Given the description of an element on the screen output the (x, y) to click on. 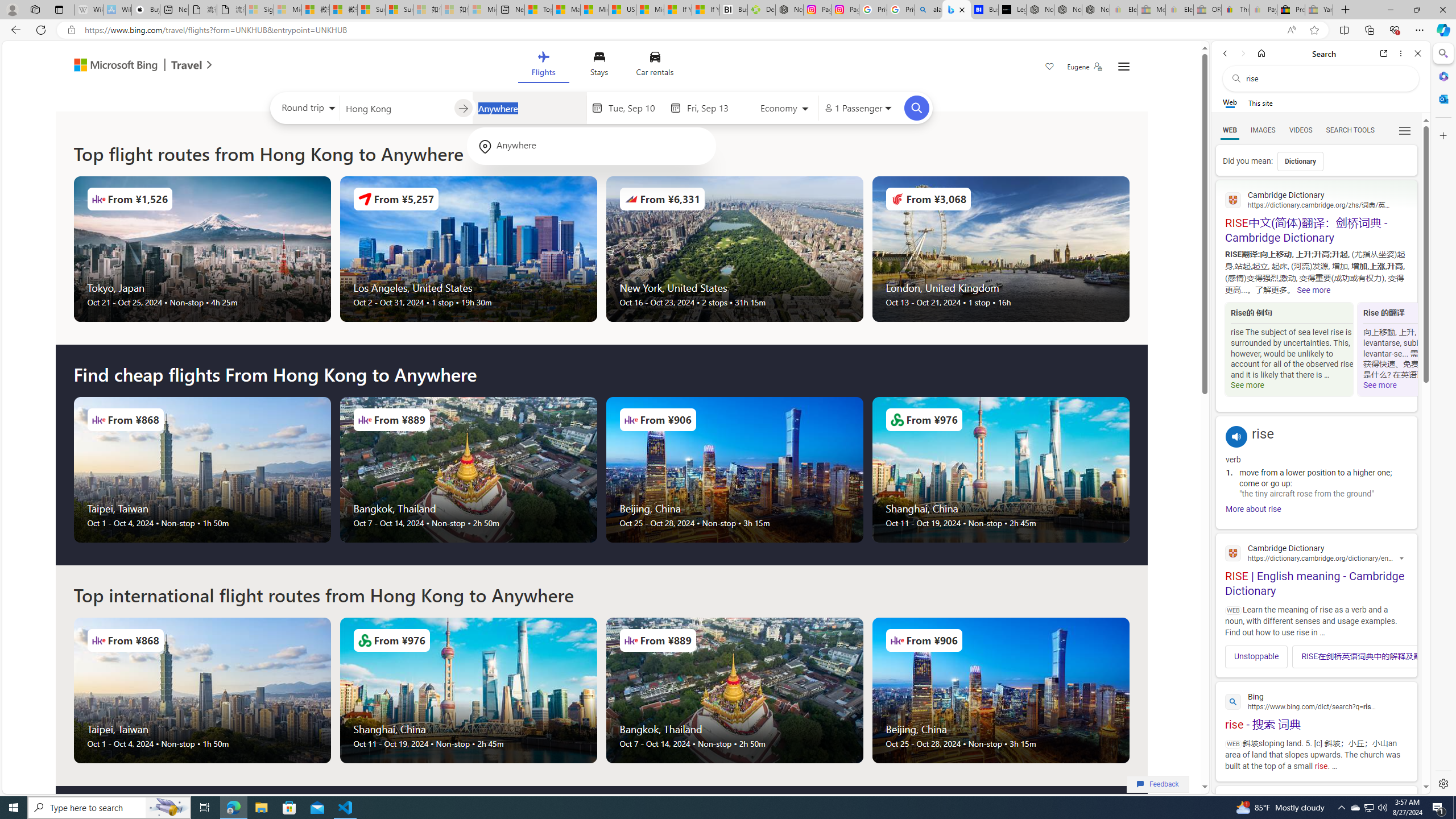
Unstoppable (1256, 656)
Stays (598, 65)
Class: autosuggest-container full-height no-y-padding (528, 107)
1 Passenger (857, 108)
